Given the description of an element on the screen output the (x, y) to click on. 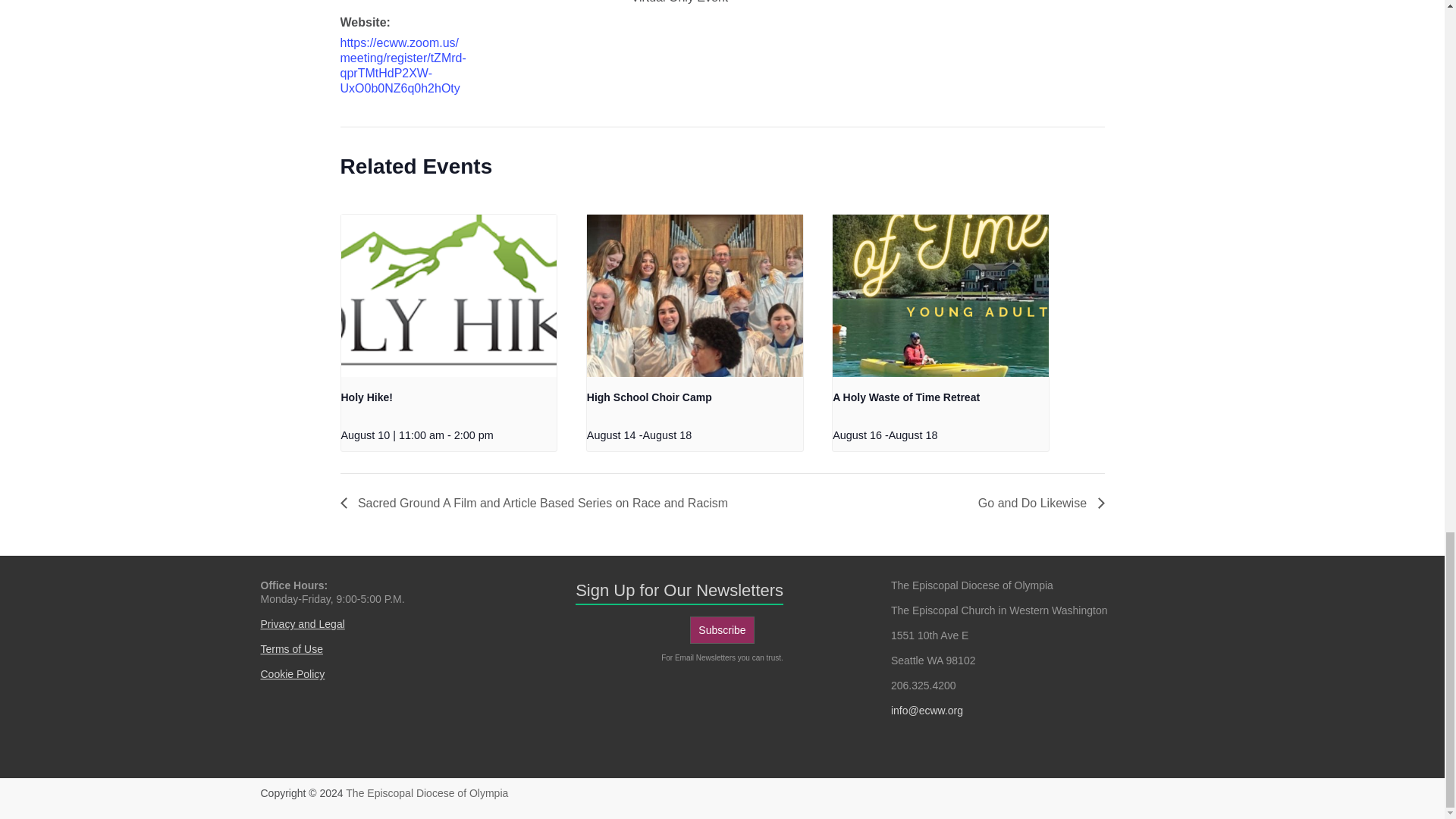
The Episcopal Diocese of Olympia (427, 793)
